Given the description of an element on the screen output the (x, y) to click on. 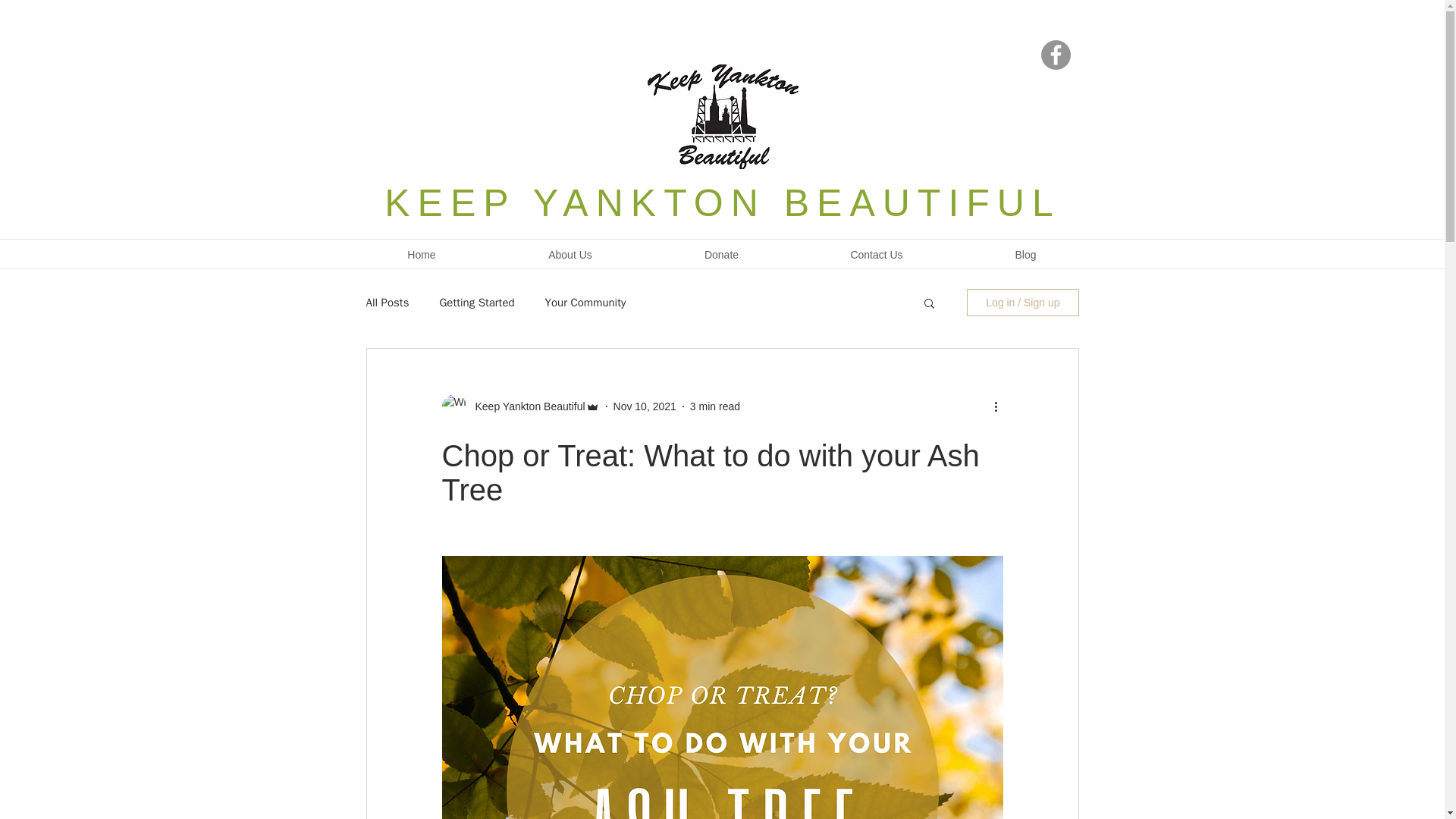
About Us (570, 254)
All Posts (387, 302)
Your Community (585, 302)
Donate (720, 254)
Home (421, 254)
Blog (1025, 254)
KEEP YANKTON BEAUTIFUL (722, 202)
Keep Yankton Beautiful (525, 406)
3 min read (714, 406)
Nov 10, 2021 (644, 406)
